Given the description of an element on the screen output the (x, y) to click on. 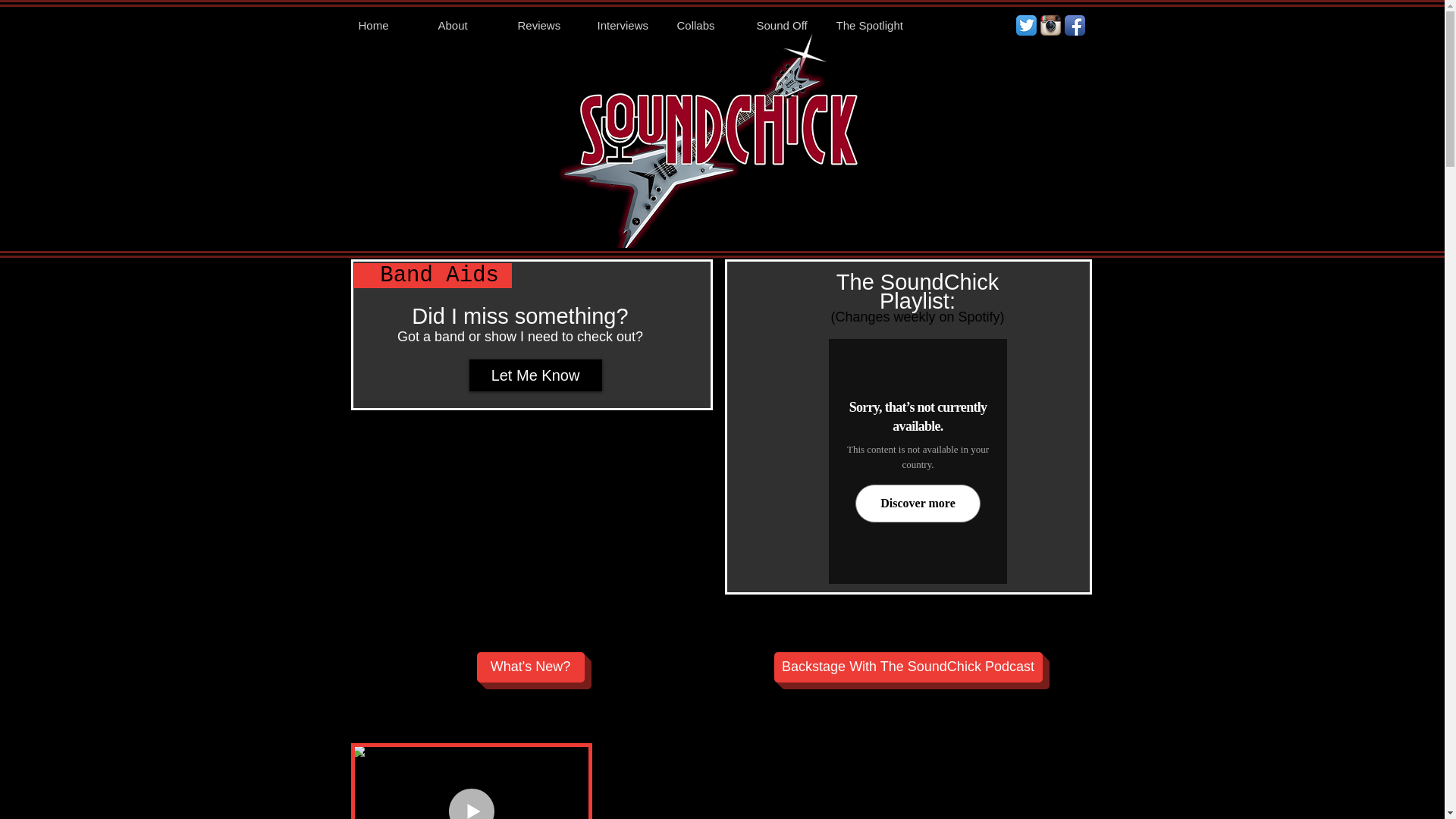
Interviews (629, 25)
Sound Chick (710, 152)
Collabs (708, 25)
Home (389, 25)
About (470, 25)
The Spotlight (867, 25)
What's New? (529, 666)
Let Me Know (534, 375)
Sound Off (788, 25)
Reviews (549, 25)
Backstage With The SoundChick Podcast (907, 666)
